Given the description of an element on the screen output the (x, y) to click on. 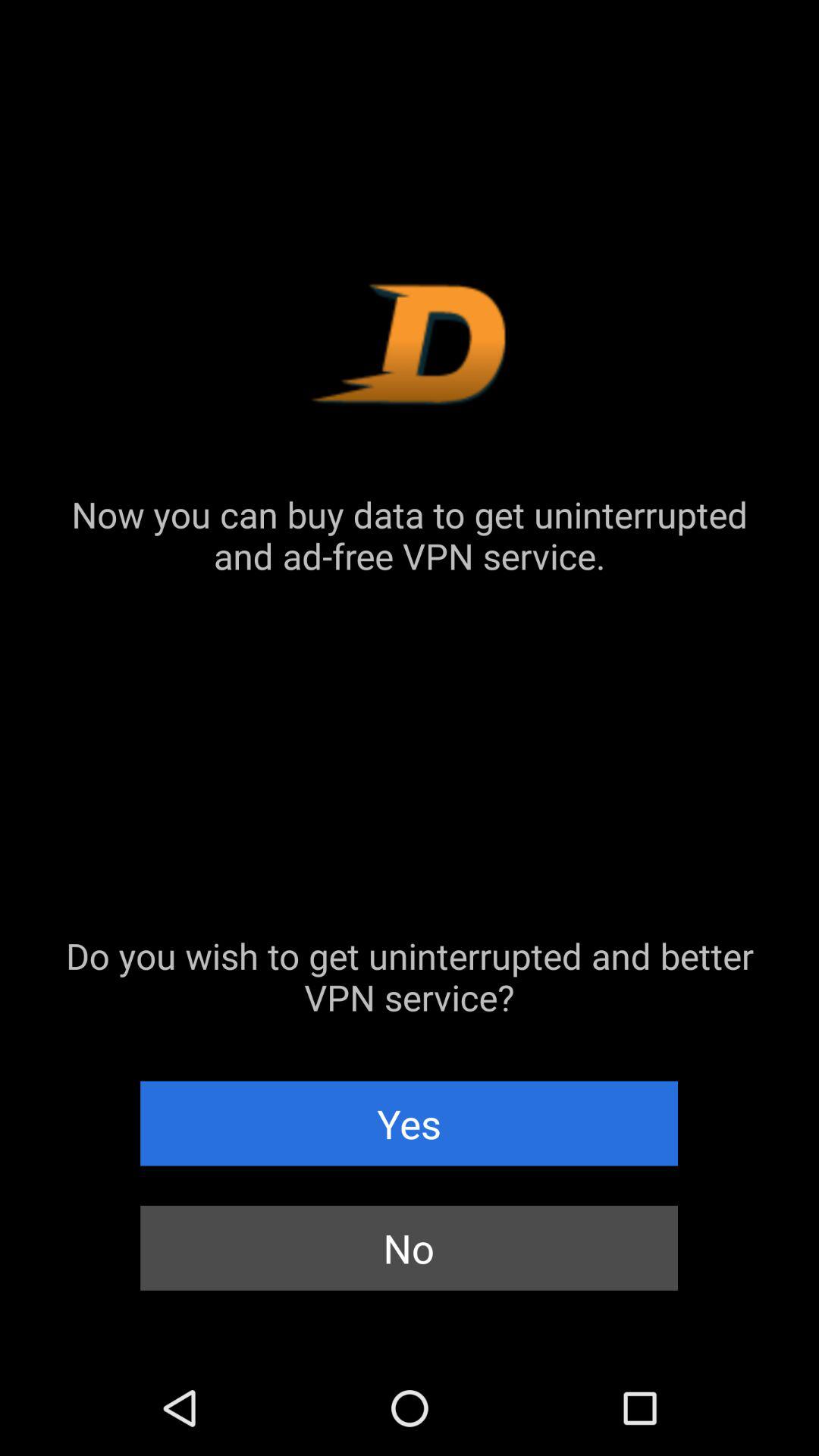
choose the no (408, 1247)
